Given the description of an element on the screen output the (x, y) to click on. 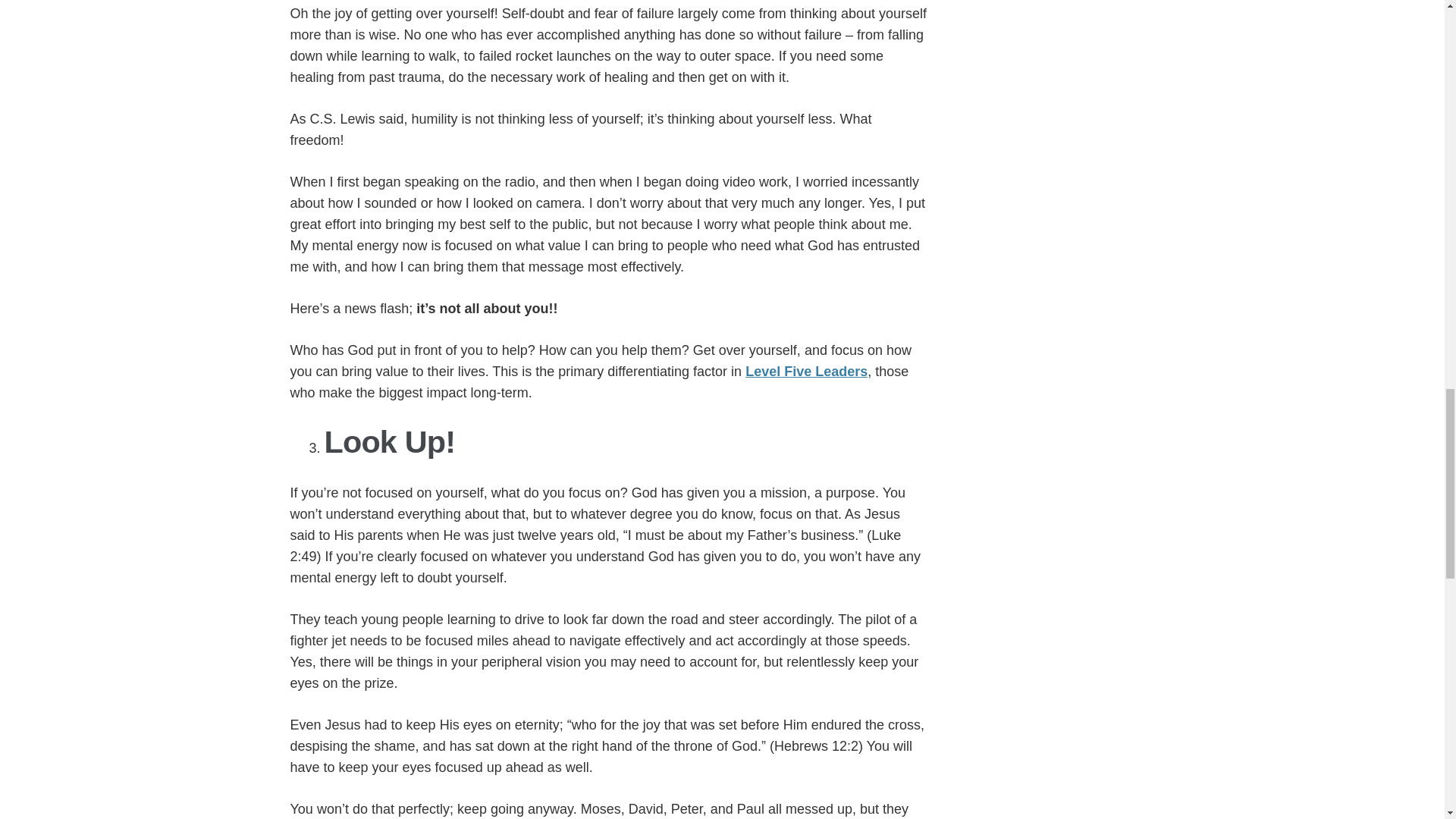
Level Five Leaders (806, 371)
